Given the description of an element on the screen output the (x, y) to click on. 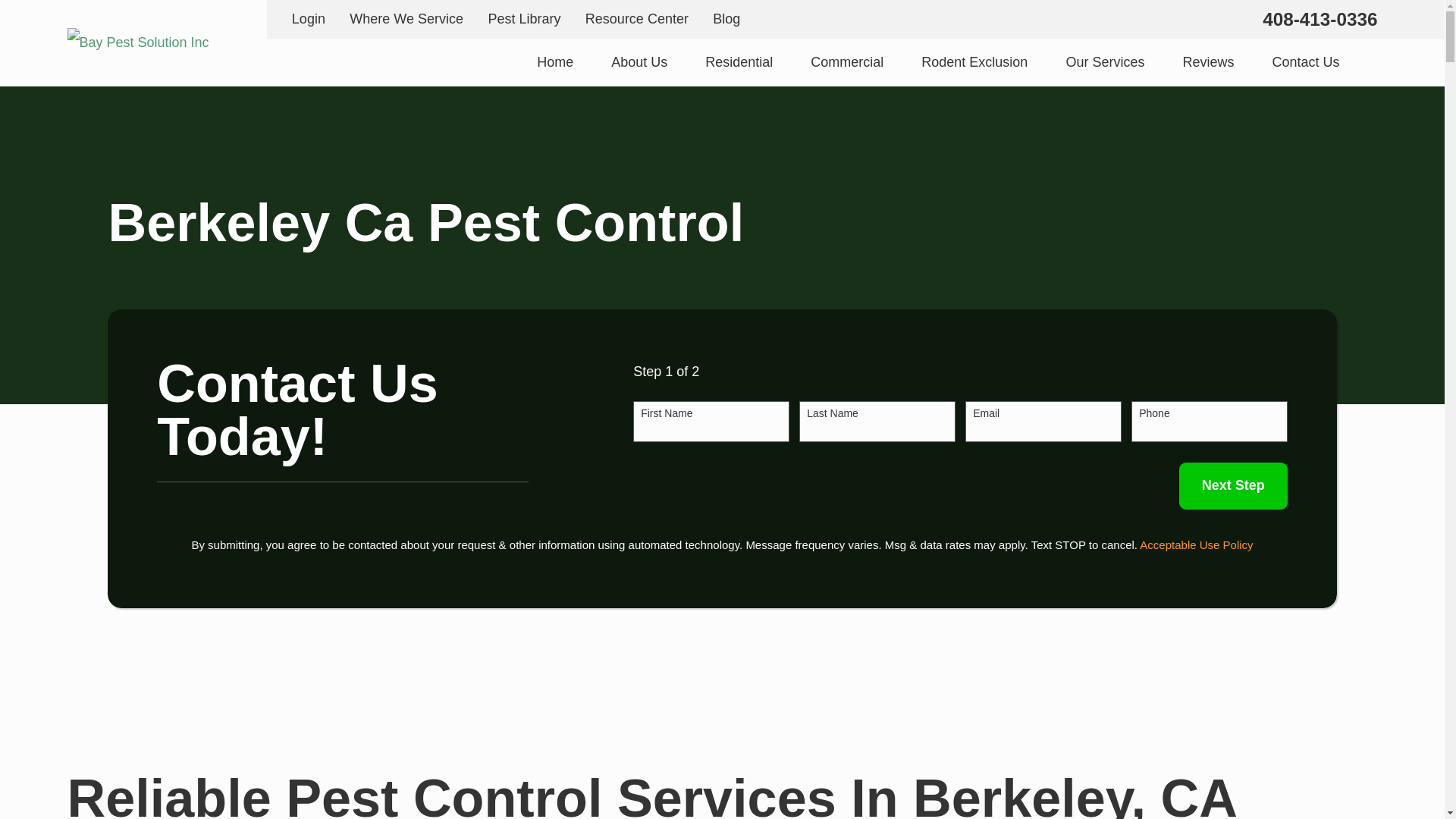
Residential (738, 62)
Where We Service (406, 18)
408-413-0336 (1319, 19)
Login (308, 18)
Home (137, 42)
Resource Center (636, 18)
Blog (726, 18)
Home (555, 62)
Pest Library (523, 18)
About Us (638, 62)
